Given the description of an element on the screen output the (x, y) to click on. 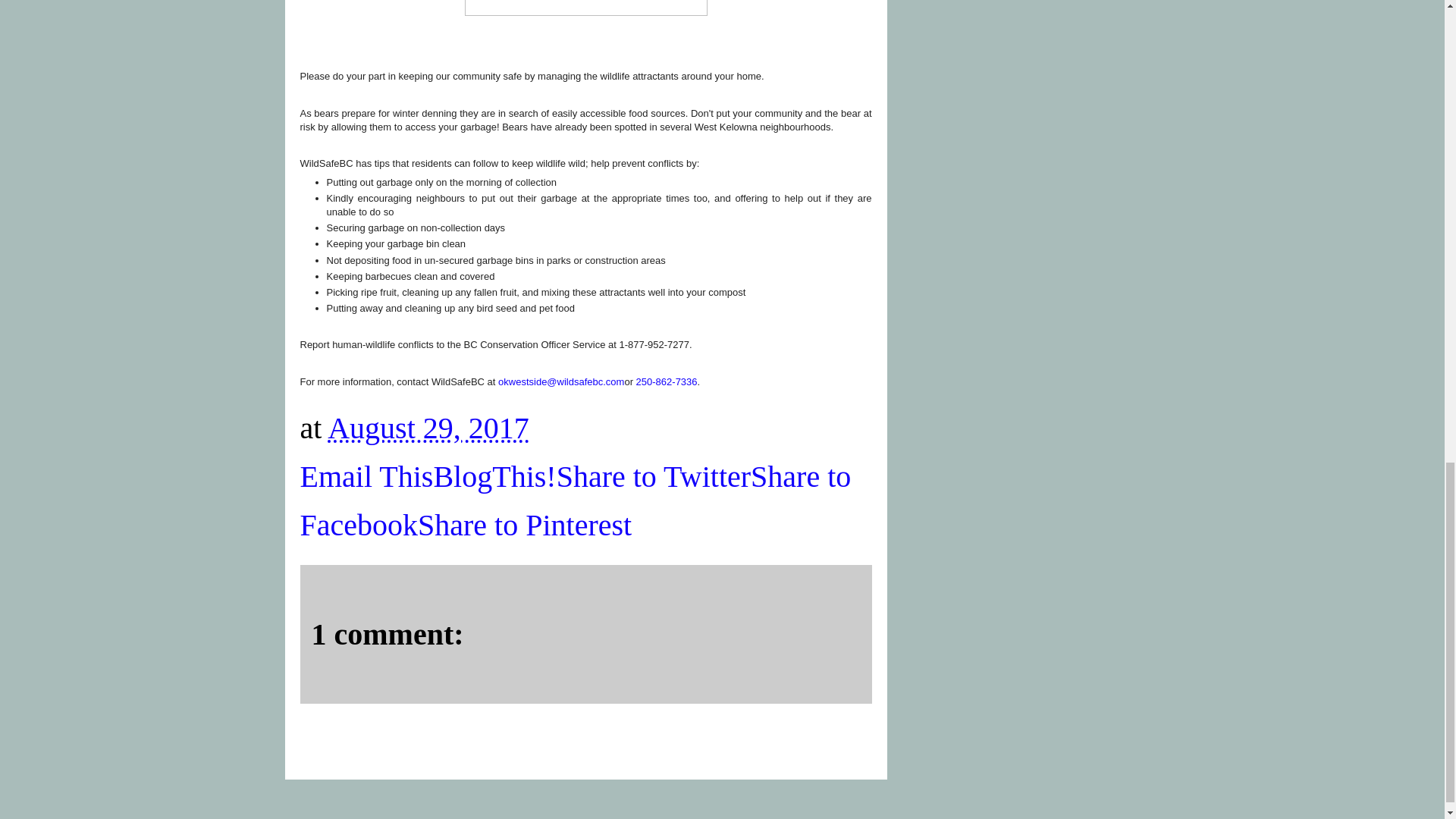
August 29, 2017 (428, 428)
BlogThis! (494, 476)
permanent link (428, 428)
Share to Pinterest (524, 524)
250-862-7336 (666, 381)
Email This (366, 476)
Share to Twitter (653, 476)
Share to Pinterest (524, 524)
Email This (366, 476)
BlogThis! (494, 476)
Share to Facebook (575, 500)
Share to Twitter (653, 476)
Share to Facebook (575, 500)
